Given the description of an element on the screen output the (x, y) to click on. 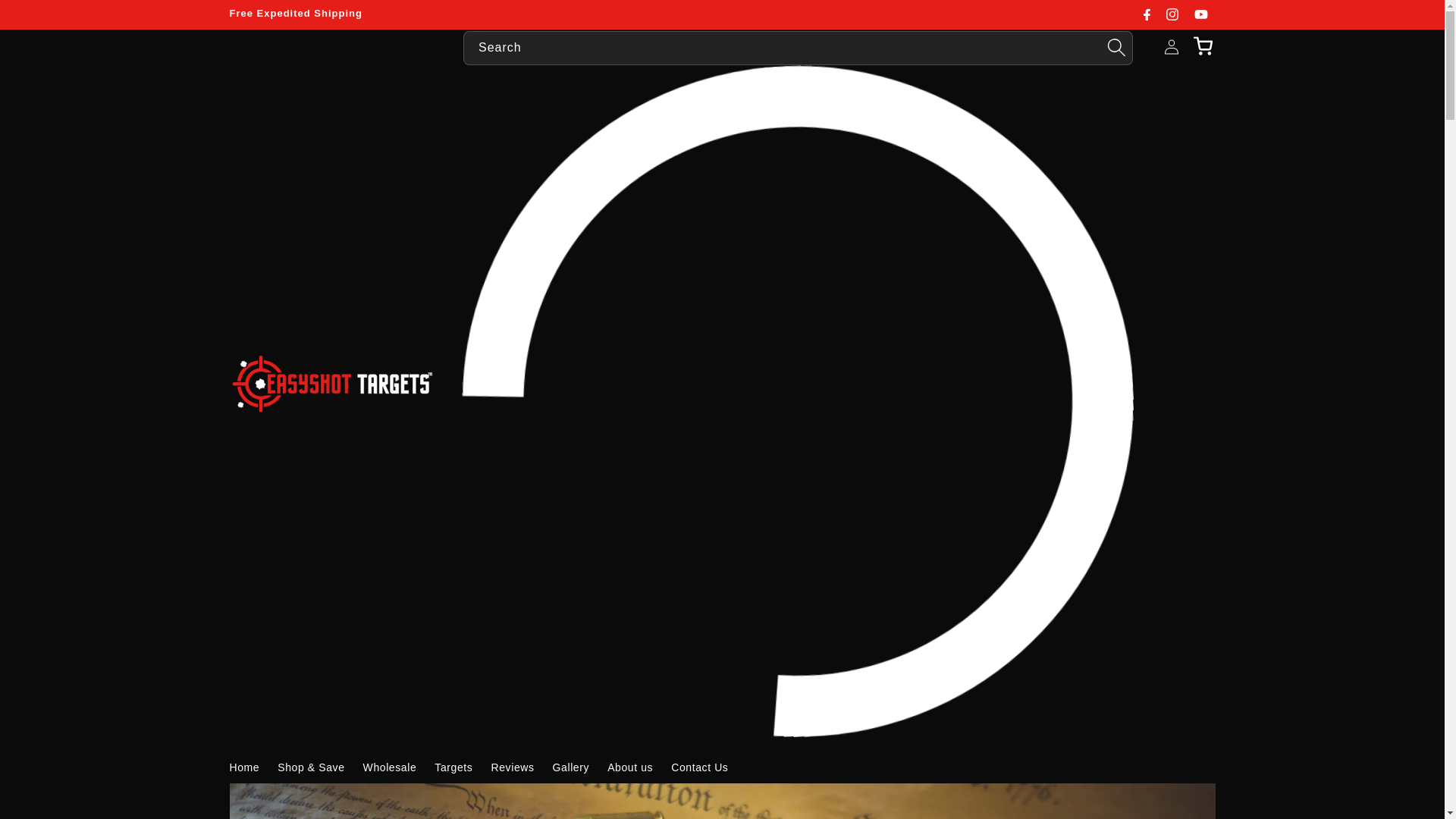
Instagram (1171, 14)
Wholesale (389, 766)
Contact Us (699, 766)
Cart (1203, 46)
About us (630, 766)
Home (243, 766)
Targets (453, 766)
Log in (1172, 46)
Gallery (570, 766)
Reviews (512, 766)
Skip to content (45, 17)
YouTube (1200, 14)
